Given the description of an element on the screen output the (x, y) to click on. 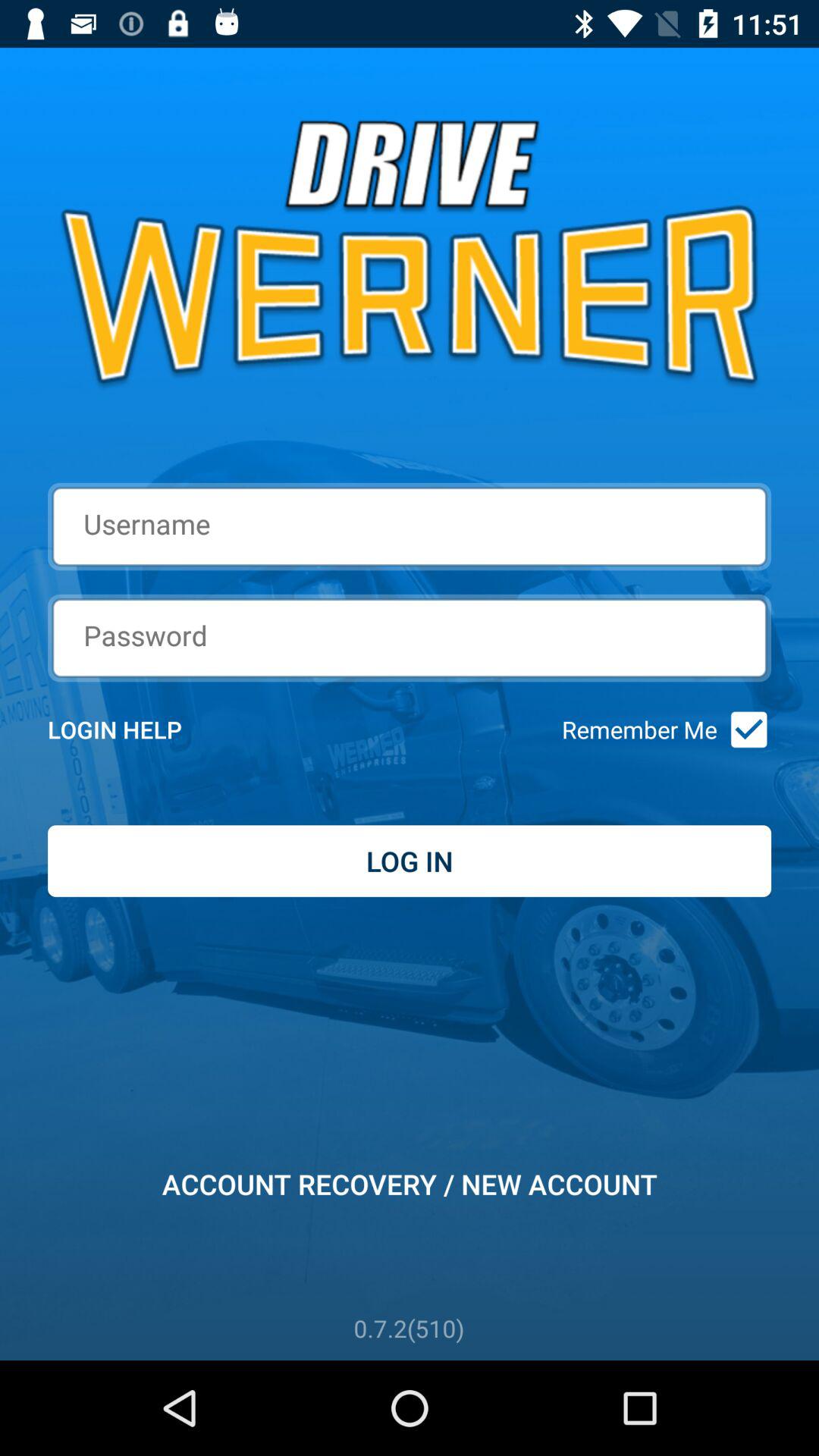
tap item to the left of remember me item (134, 729)
